Given the description of an element on the screen output the (x, y) to click on. 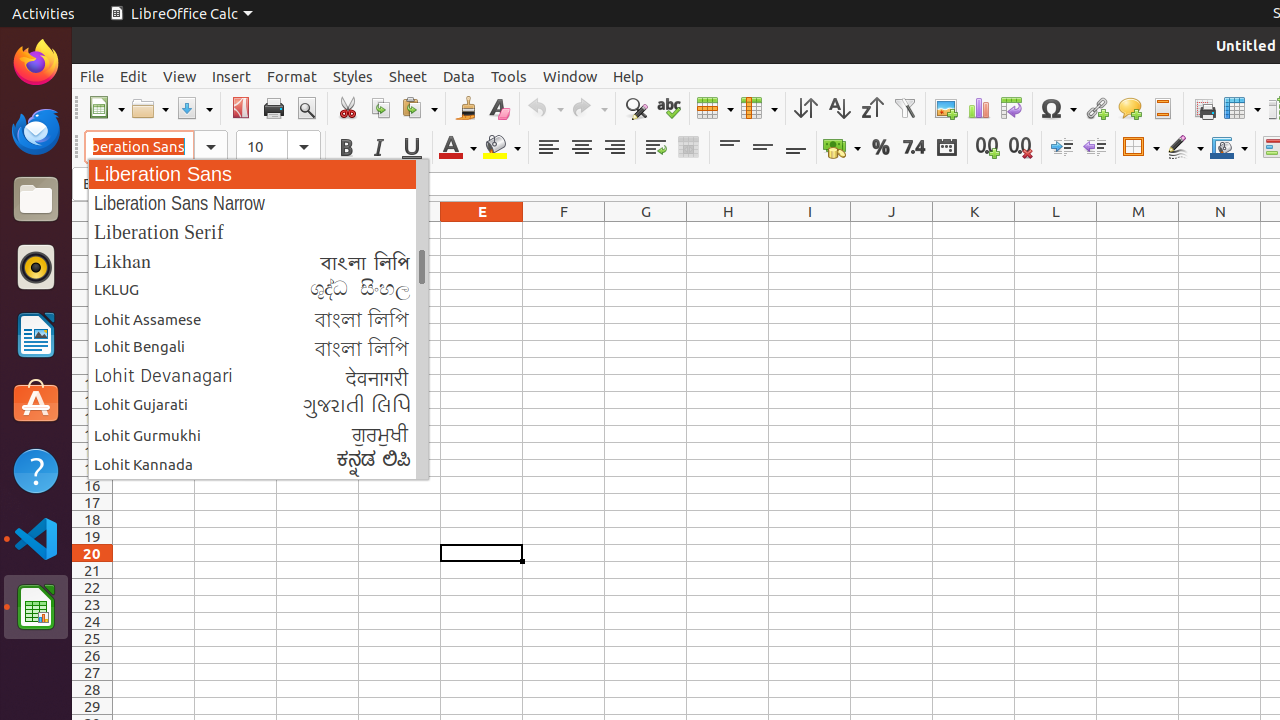
Redo Element type: push-button (589, 108)
Number Element type: push-button (913, 147)
Find & Replace Element type: toggle-button (635, 108)
Pivot Table Element type: push-button (1011, 108)
Styles Element type: menu (353, 76)
